Given the description of an element on the screen output the (x, y) to click on. 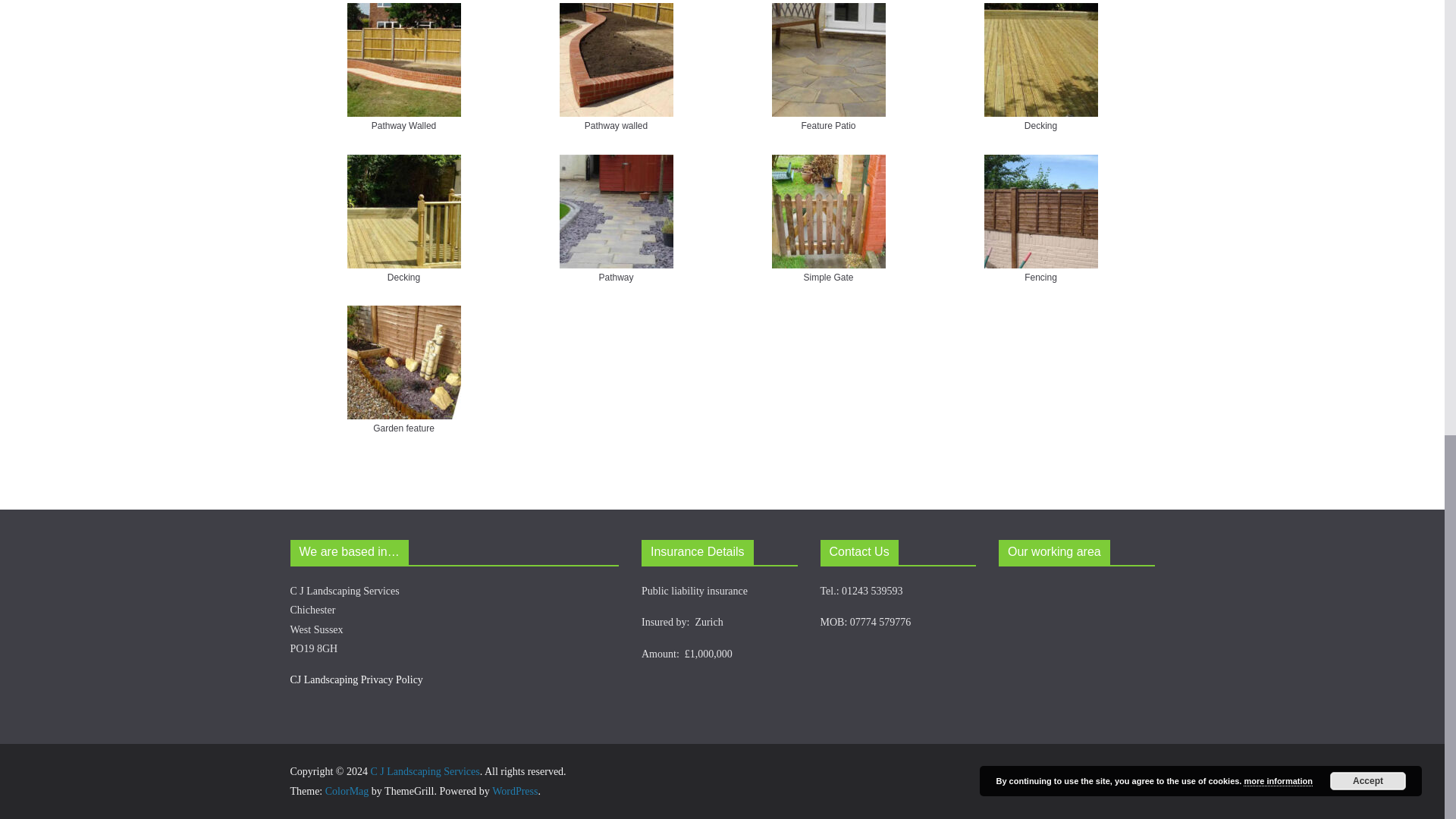
C J Landscaping Services (424, 771)
ColorMag (346, 790)
C J Landscaping Services (424, 771)
ColorMag (346, 790)
WordPress (514, 790)
WordPress (514, 790)
CJ Landscaping Privacy Policy (355, 679)
